Given the description of an element on the screen output the (x, y) to click on. 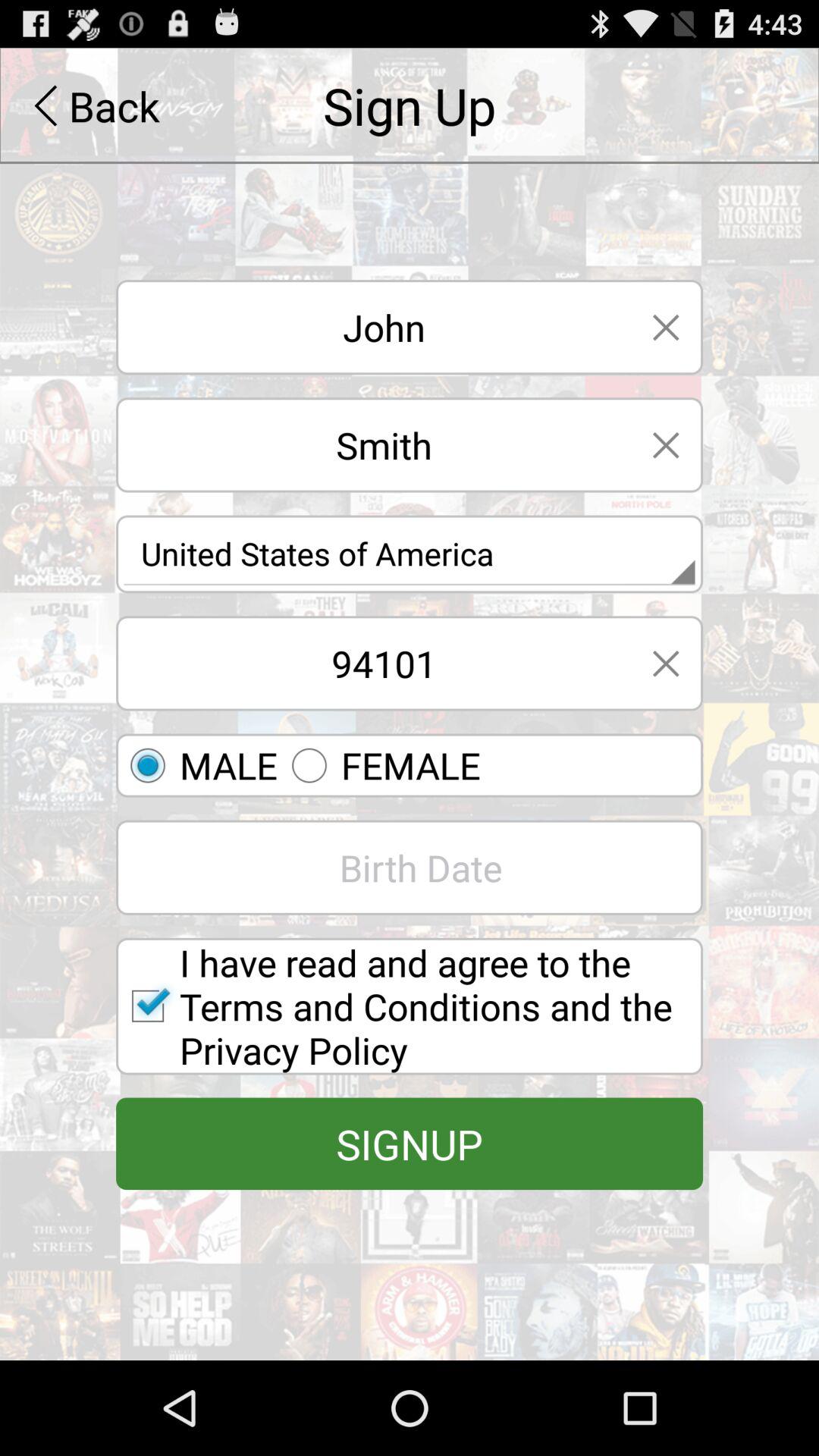
clear text entry (665, 444)
